Given the description of an element on the screen output the (x, y) to click on. 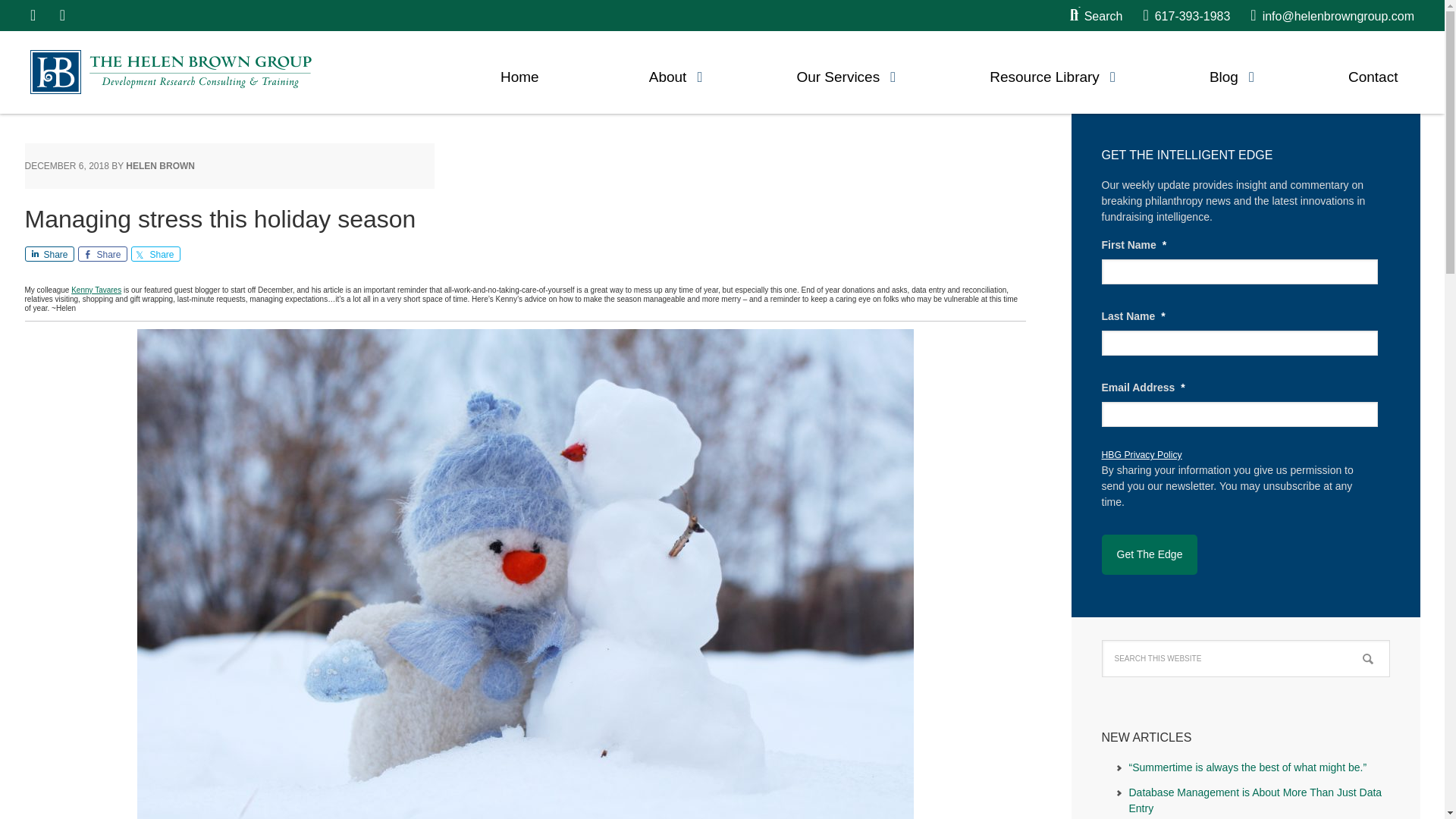
617-393-1983 (1186, 15)
Our Services (837, 72)
Resource Library (1044, 72)
Search (1096, 16)
Helen Brown Group (170, 71)
Get The Edge (1148, 554)
